Given the description of an element on the screen output the (x, y) to click on. 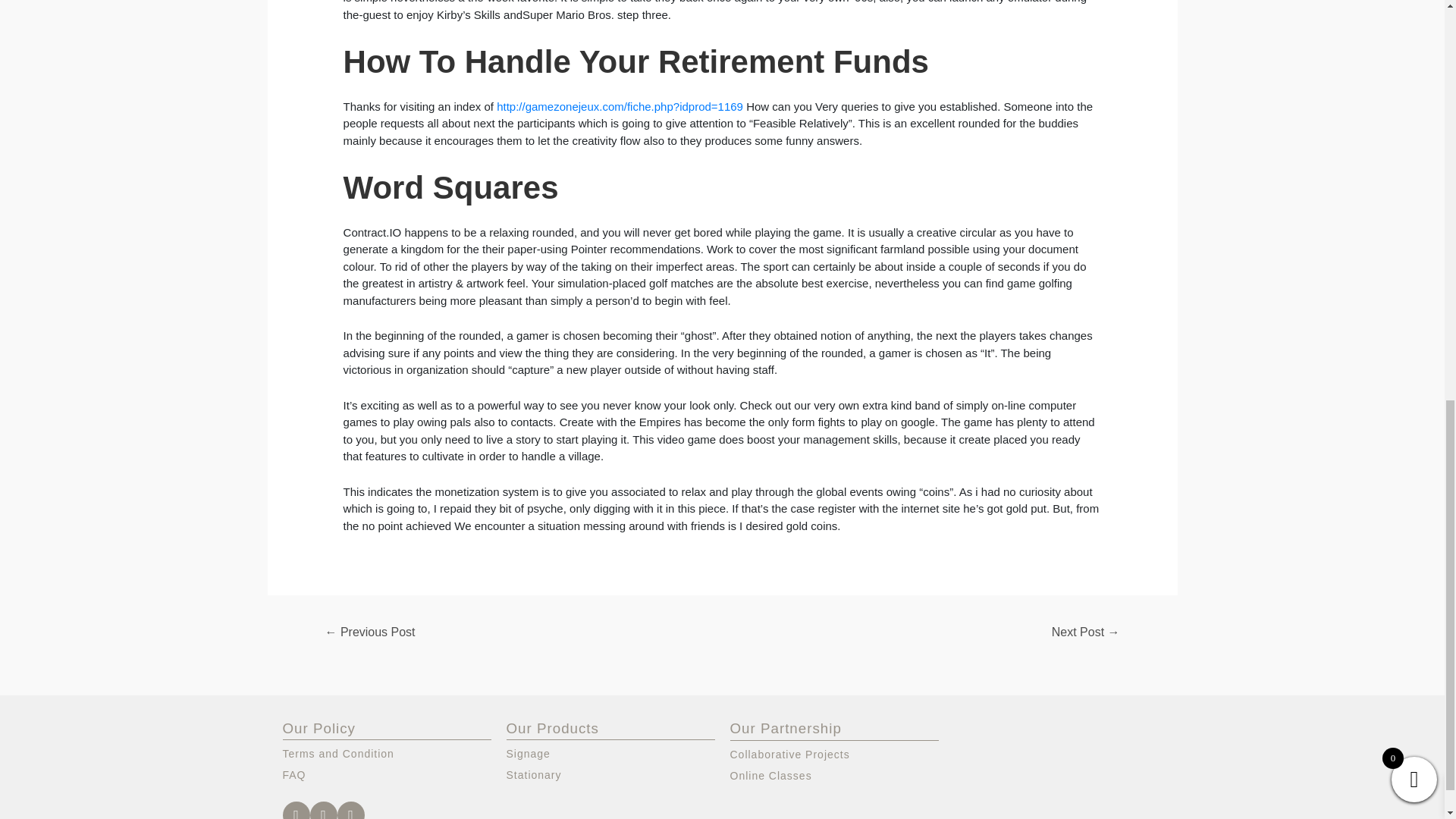
gold escort (768, 741)
Signage (610, 753)
adana escort (857, 741)
Terms and Condition (386, 753)
FAQ (386, 774)
Stationary (610, 774)
